Given the description of an element on the screen output the (x, y) to click on. 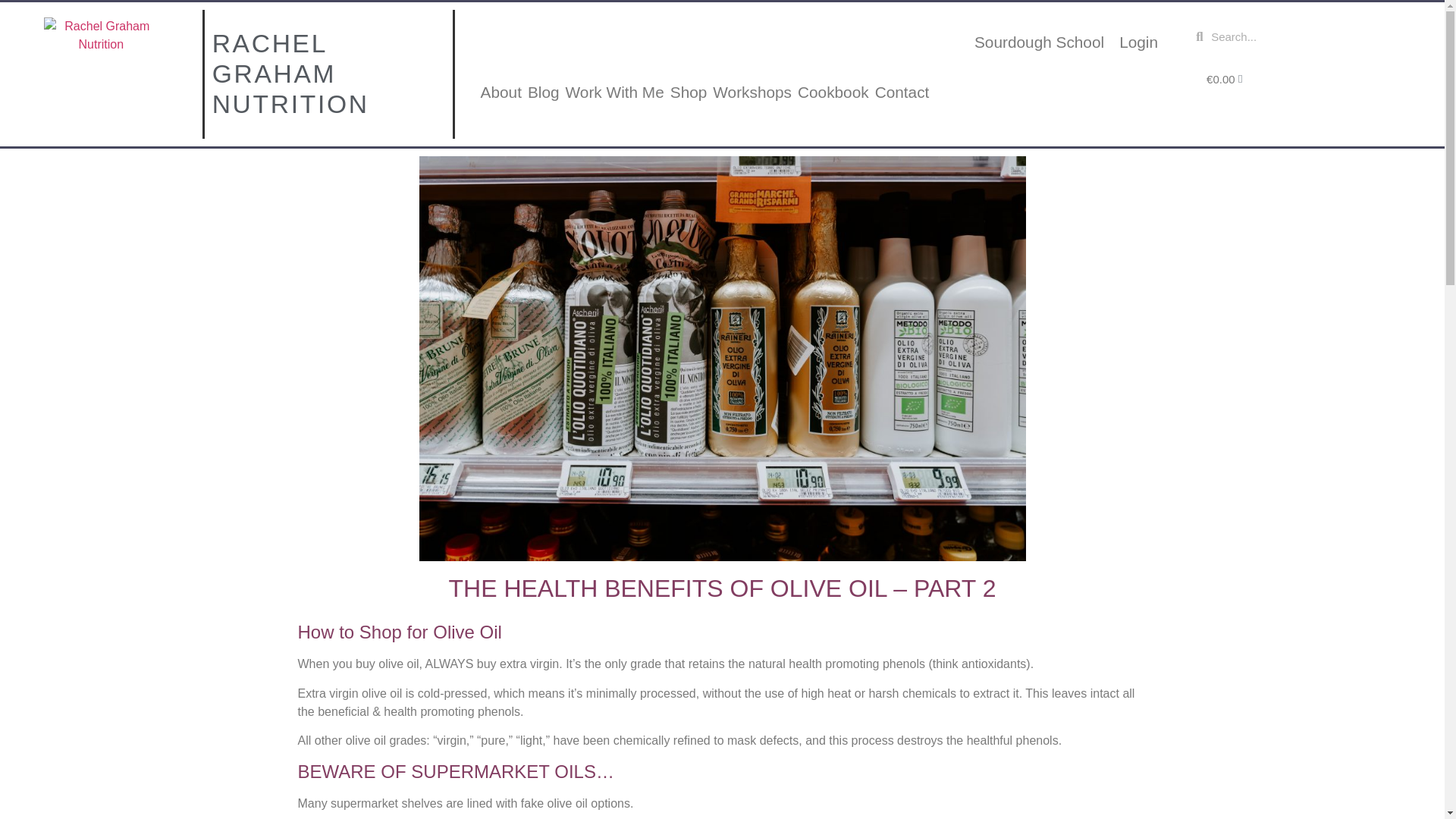
Work With Me (614, 92)
Sourdough School (1039, 42)
Blog (543, 92)
Contact (902, 92)
Workshops (752, 92)
Login (1139, 42)
Cookbook (833, 92)
Shop (688, 92)
RACHEL GRAHAM NUTRITION (290, 73)
About (500, 92)
